Given the description of an element on the screen output the (x, y) to click on. 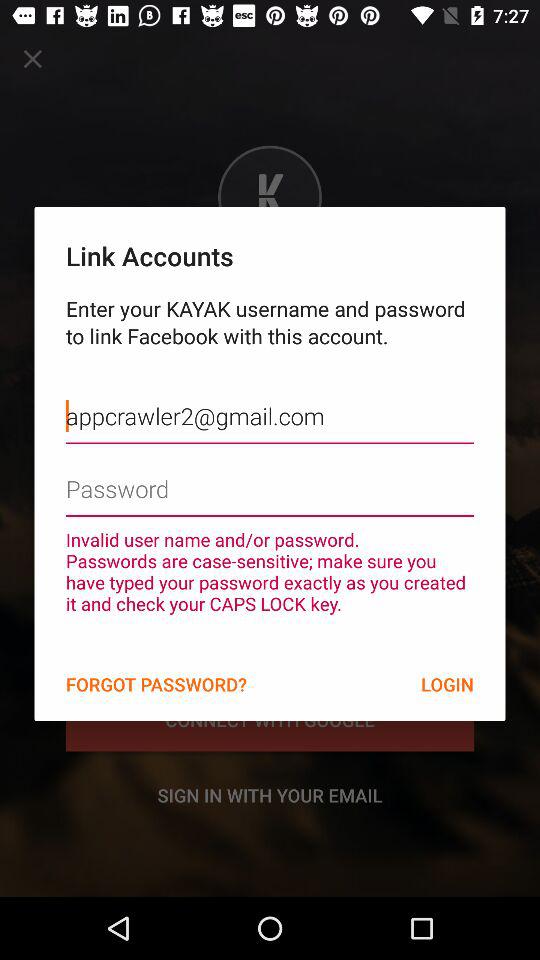
turn off the forgot password? at the bottom left corner (156, 683)
